Given the description of an element on the screen output the (x, y) to click on. 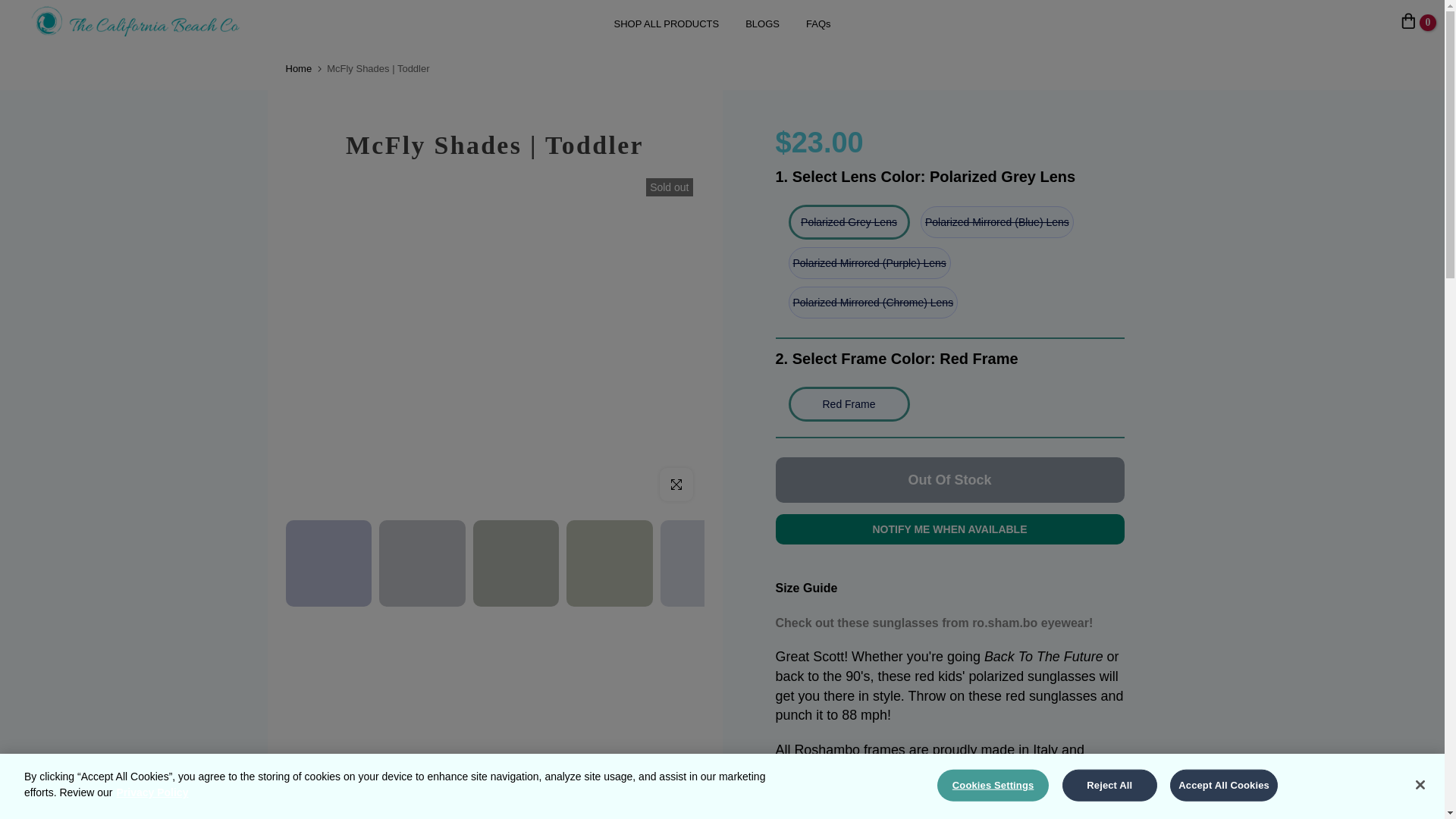
Skip to Footer (10, 7)
Home (298, 68)
0 (1408, 22)
NOTIFY ME WHEN AVAILABLE (949, 529)
FAQs (818, 23)
Out Of Stock (949, 479)
SHOP ALL PRODUCTS (665, 23)
Size Guide (805, 587)
BLOGS (762, 23)
